Given the description of an element on the screen output the (x, y) to click on. 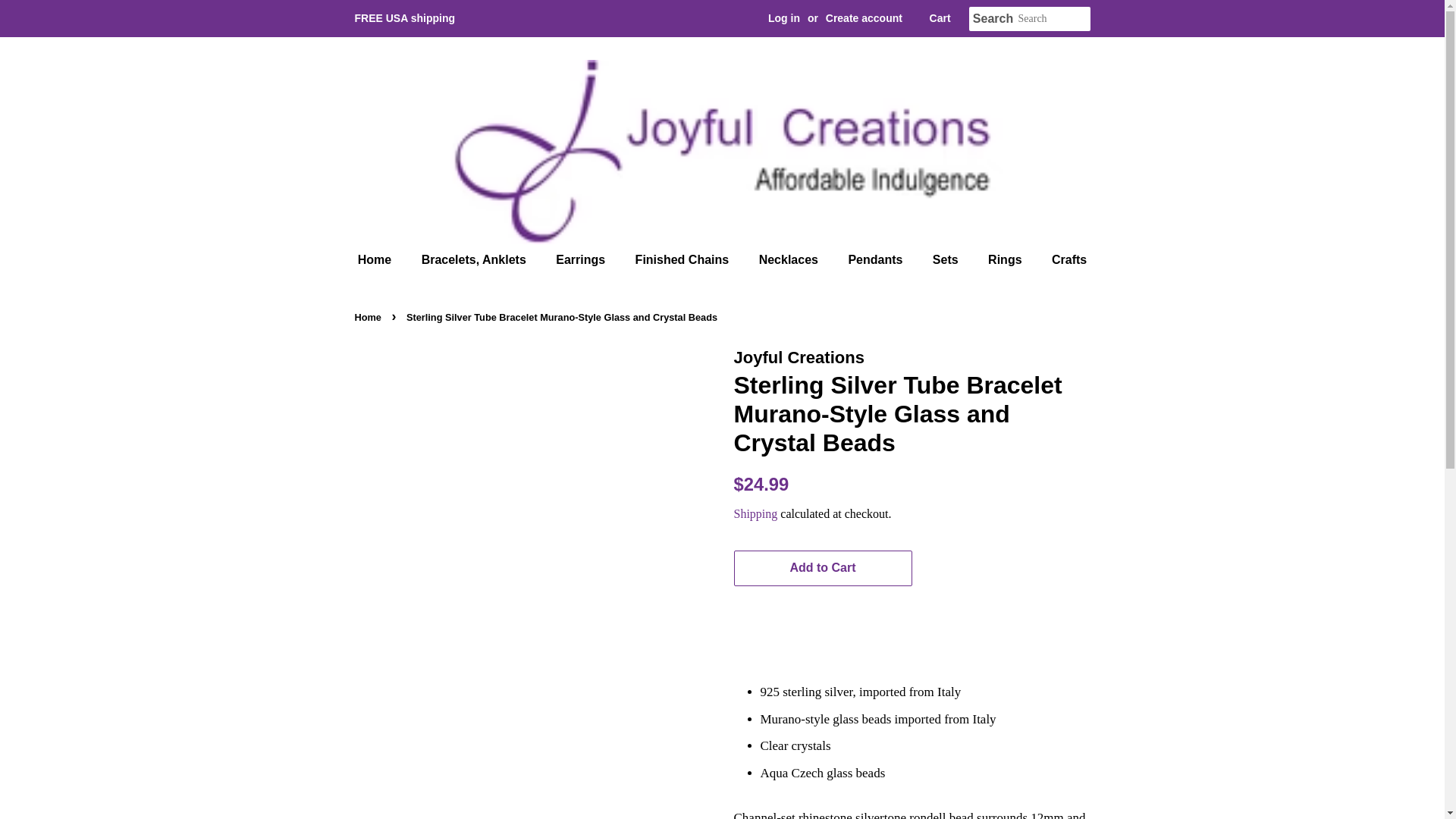
Cart (940, 18)
Back to the frontpage (370, 317)
Bracelets, Anklets (475, 259)
Home (382, 259)
Create account (863, 18)
Search (993, 18)
Log in (783, 18)
